Given the description of an element on the screen output the (x, y) to click on. 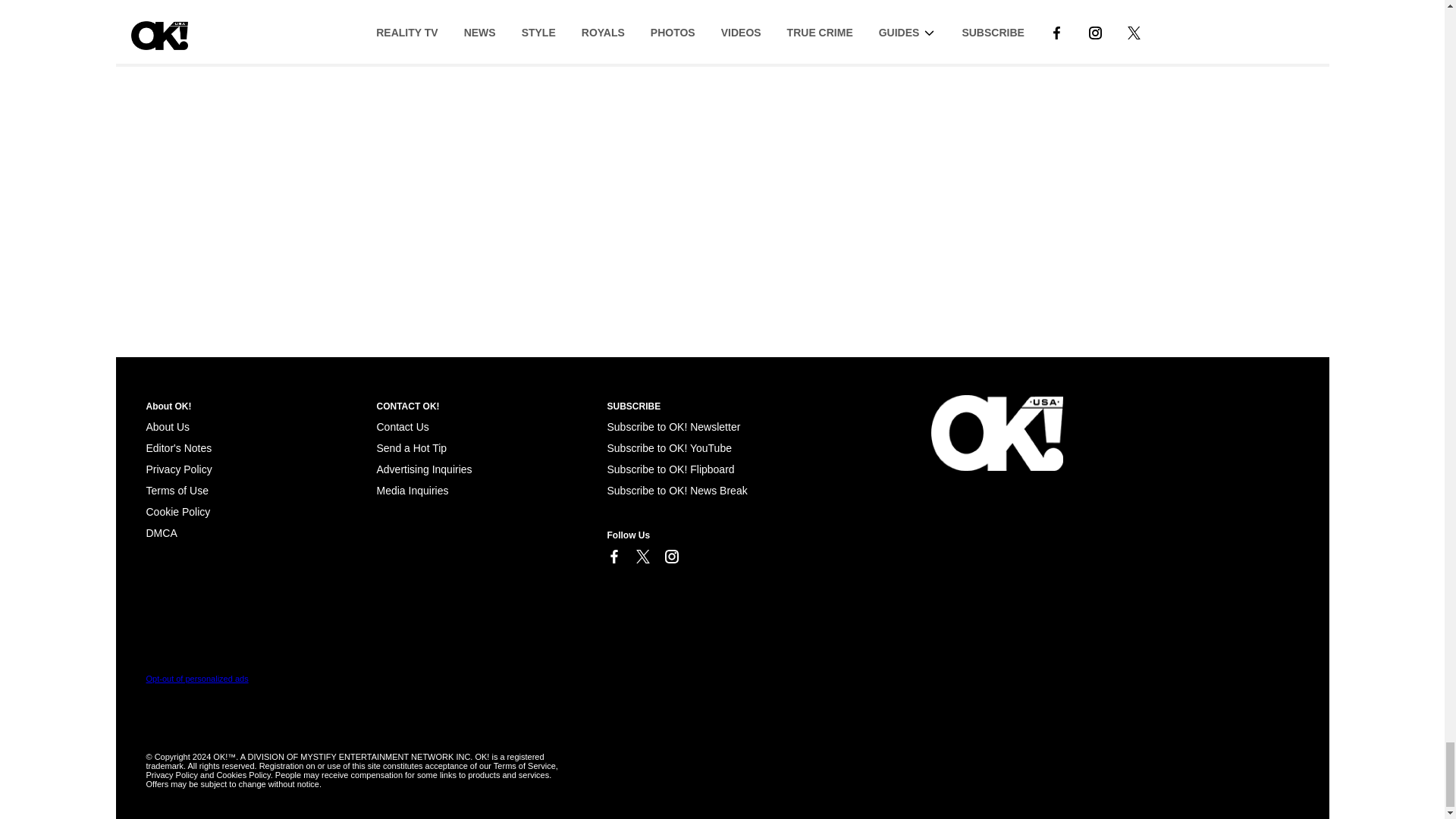
Link to Instagram (670, 556)
Link to X (641, 556)
Privacy Policy (178, 469)
Contact Us (401, 426)
Terms of Use (176, 490)
Cookie Policy (177, 511)
Link to Facebook (613, 556)
Editor's Notes (178, 448)
Cookie Policy (160, 532)
Send a Hot Tip (410, 448)
About Us (167, 426)
